Given the description of an element on the screen output the (x, y) to click on. 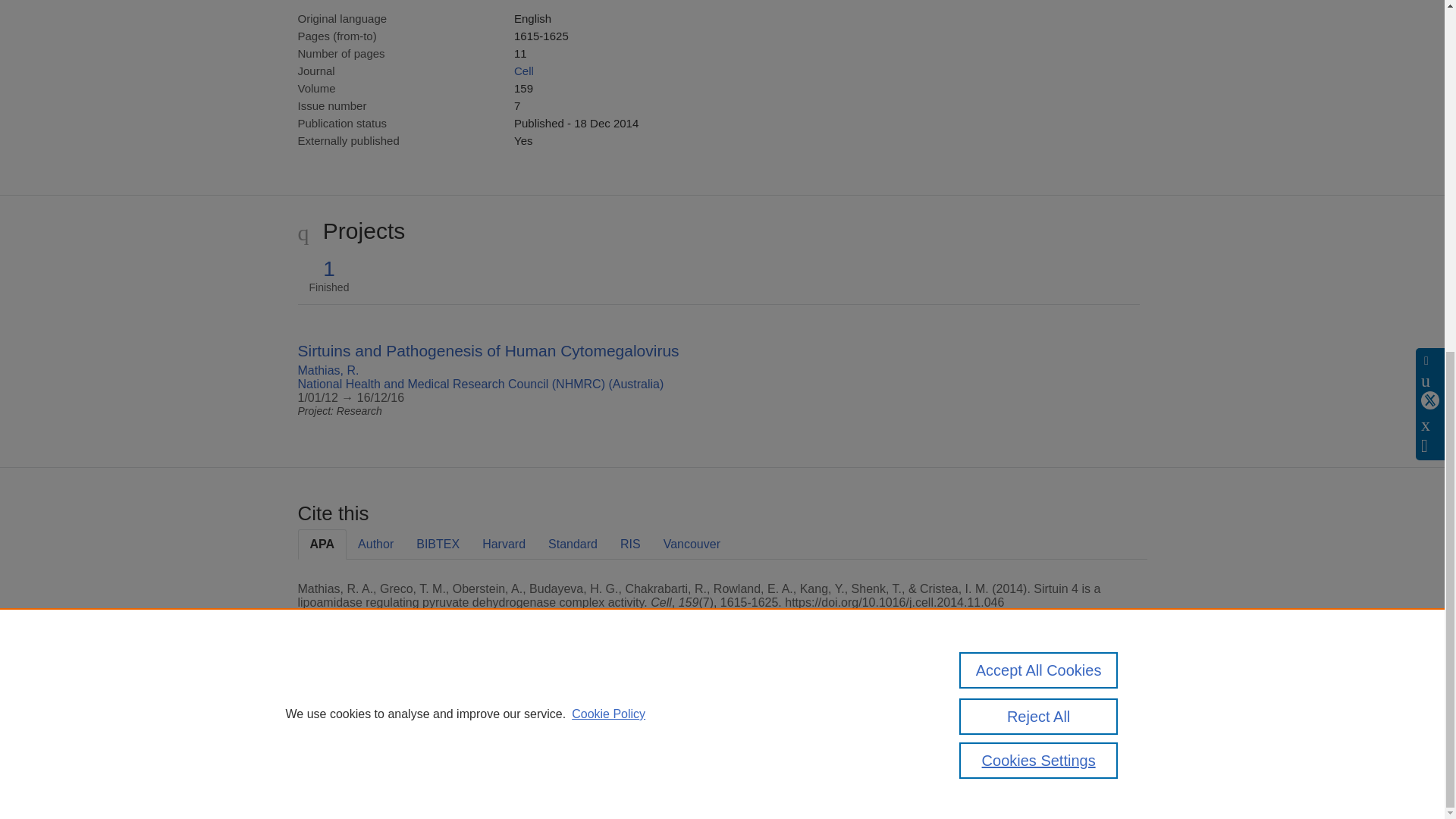
Sirtuins and Pathogenesis of Human Cytomegalovirus (487, 350)
Pure (362, 708)
Cookies Settings (334, 781)
Monash University data protection policy (1009, 713)
Scopus (394, 708)
use of cookies (796, 760)
1 (328, 269)
Cell (523, 70)
Mathias, R. (327, 369)
Elsevier B.V. (506, 728)
